Given the description of an element on the screen output the (x, y) to click on. 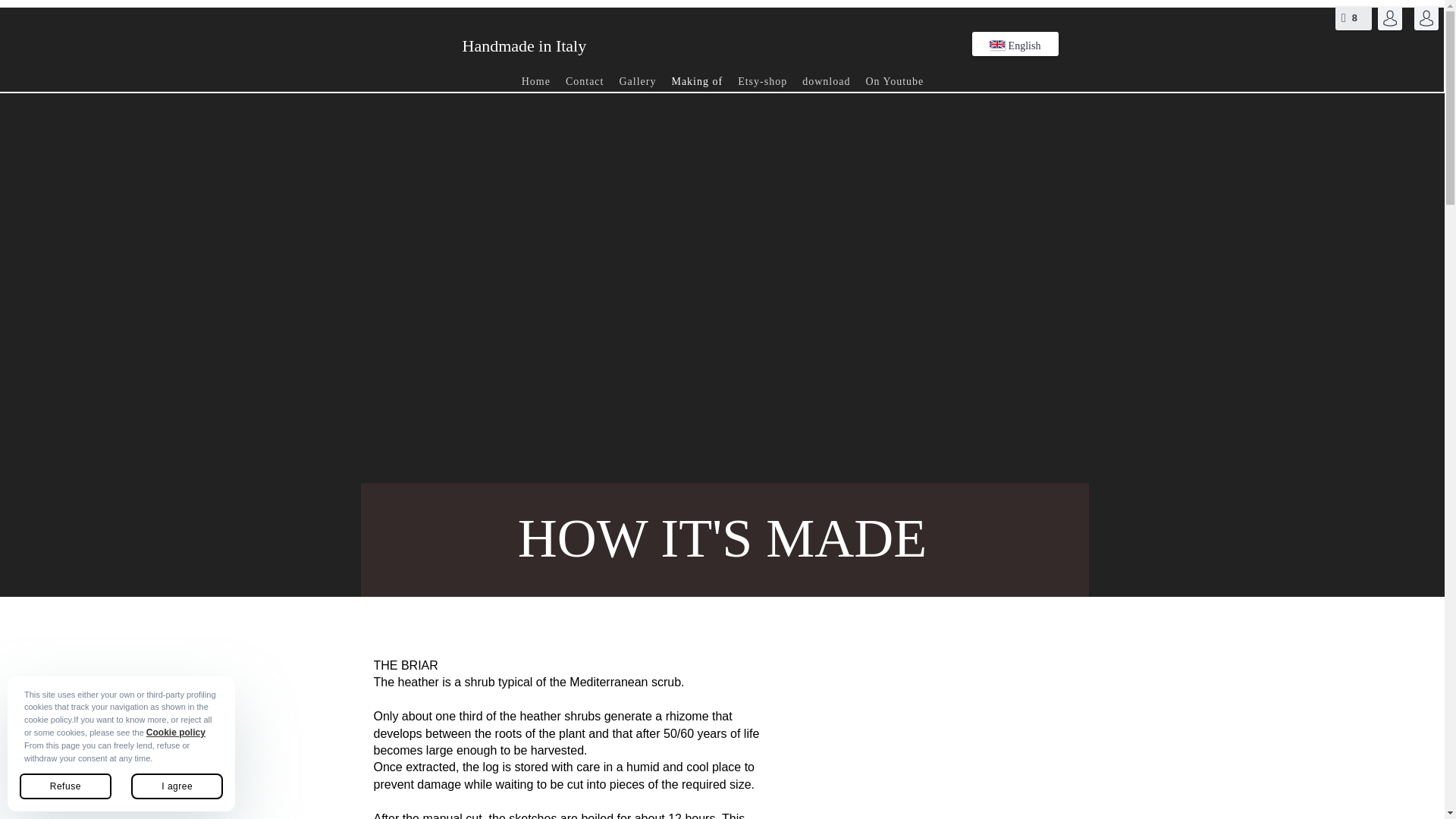
Cookie policy (176, 732)
